Given the description of an element on the screen output the (x, y) to click on. 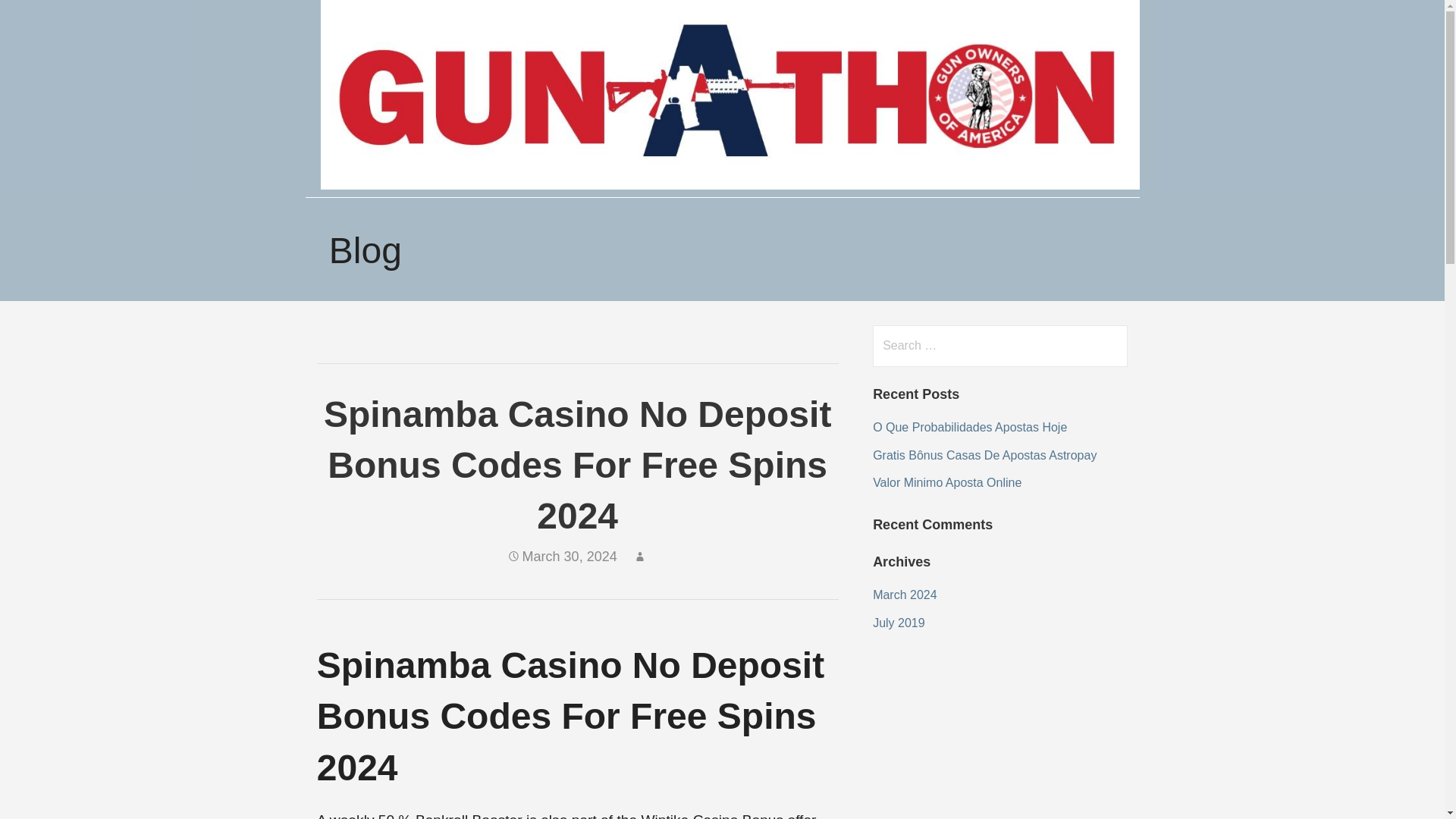
March 2024 (904, 594)
Valor Minimo Aposta Online (947, 481)
Search (42, 18)
O Que Probabilidades Apostas Hoje (969, 427)
July 2019 (898, 622)
